Given the description of an element on the screen output the (x, y) to click on. 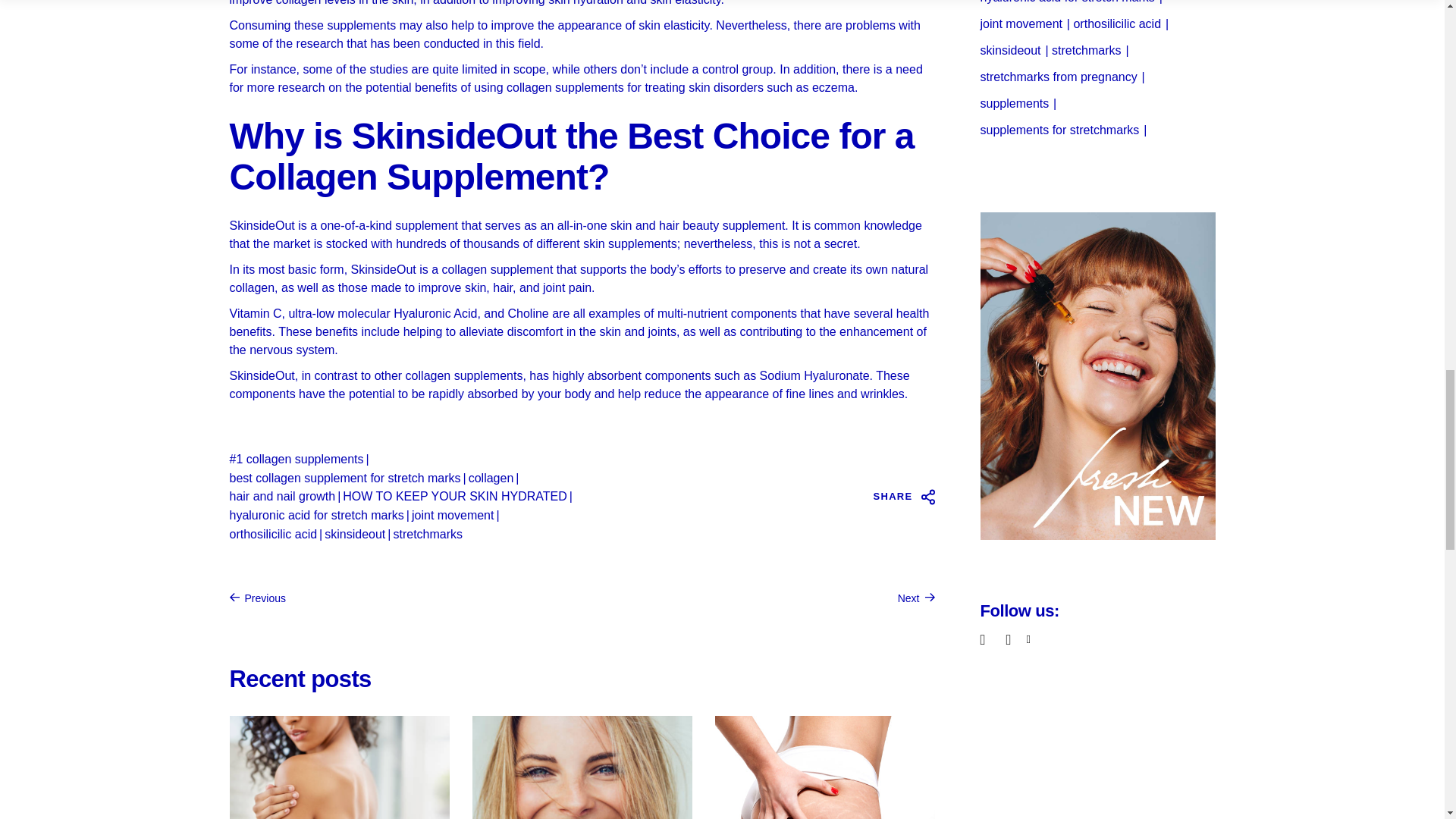
best collagen supplement for stretch marks (344, 478)
HOW TO KEEP YOUR SKIN HYDRATED (454, 496)
hair and nail growth (281, 496)
collagen (490, 478)
hyaluronic acid for stretch marks (315, 515)
